Given the description of an element on the screen output the (x, y) to click on. 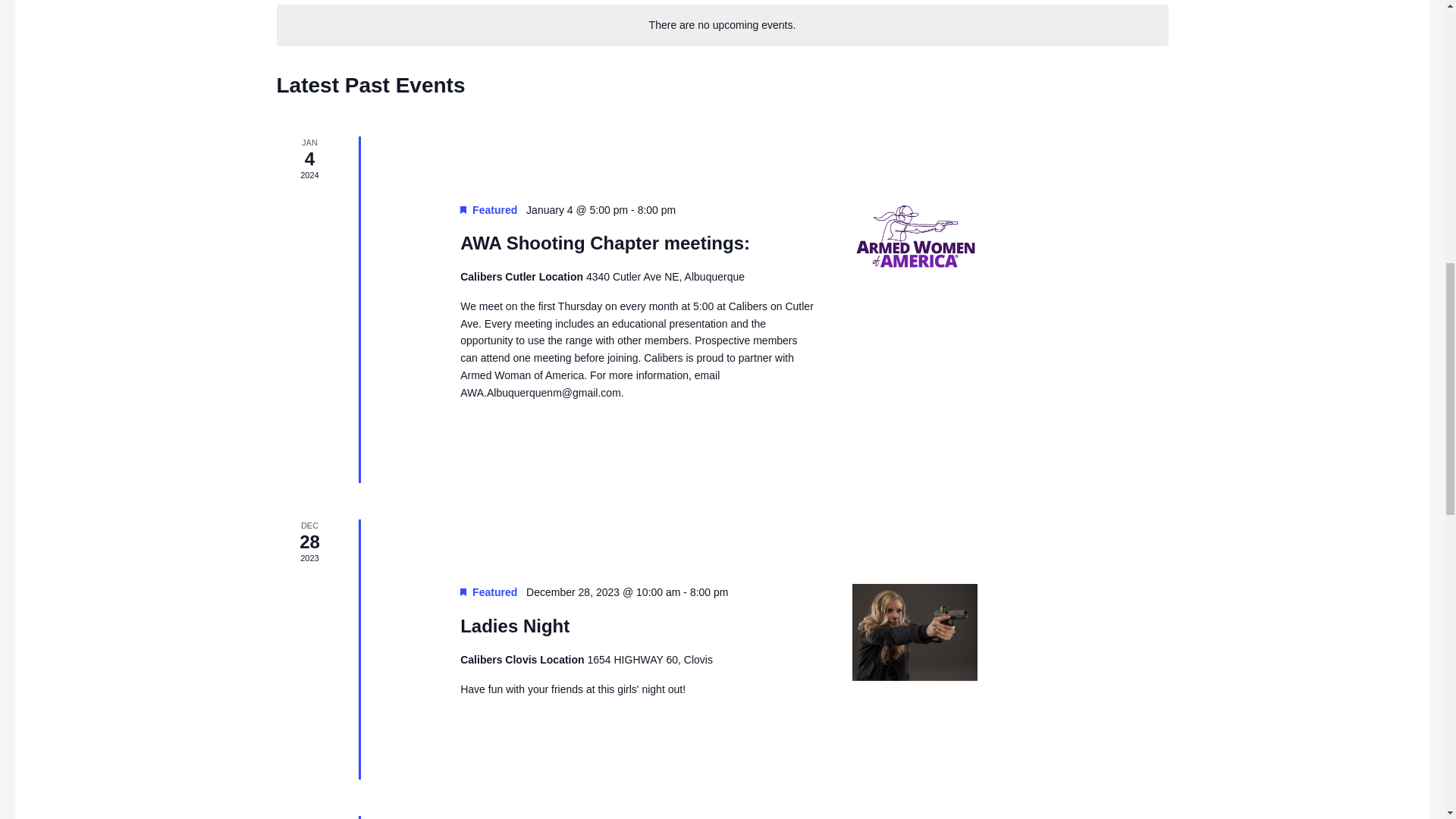
AWA Shooting Chapter meetings: (604, 242)
Ladies Night (514, 626)
Armed Women (913, 236)
Ladies Night (951, 631)
AWA Shooting Chapter meetings: (951, 236)
FareHarbor (1342, 64)
calibers training ladies only handguns (913, 631)
